Given the description of an element on the screen output the (x, y) to click on. 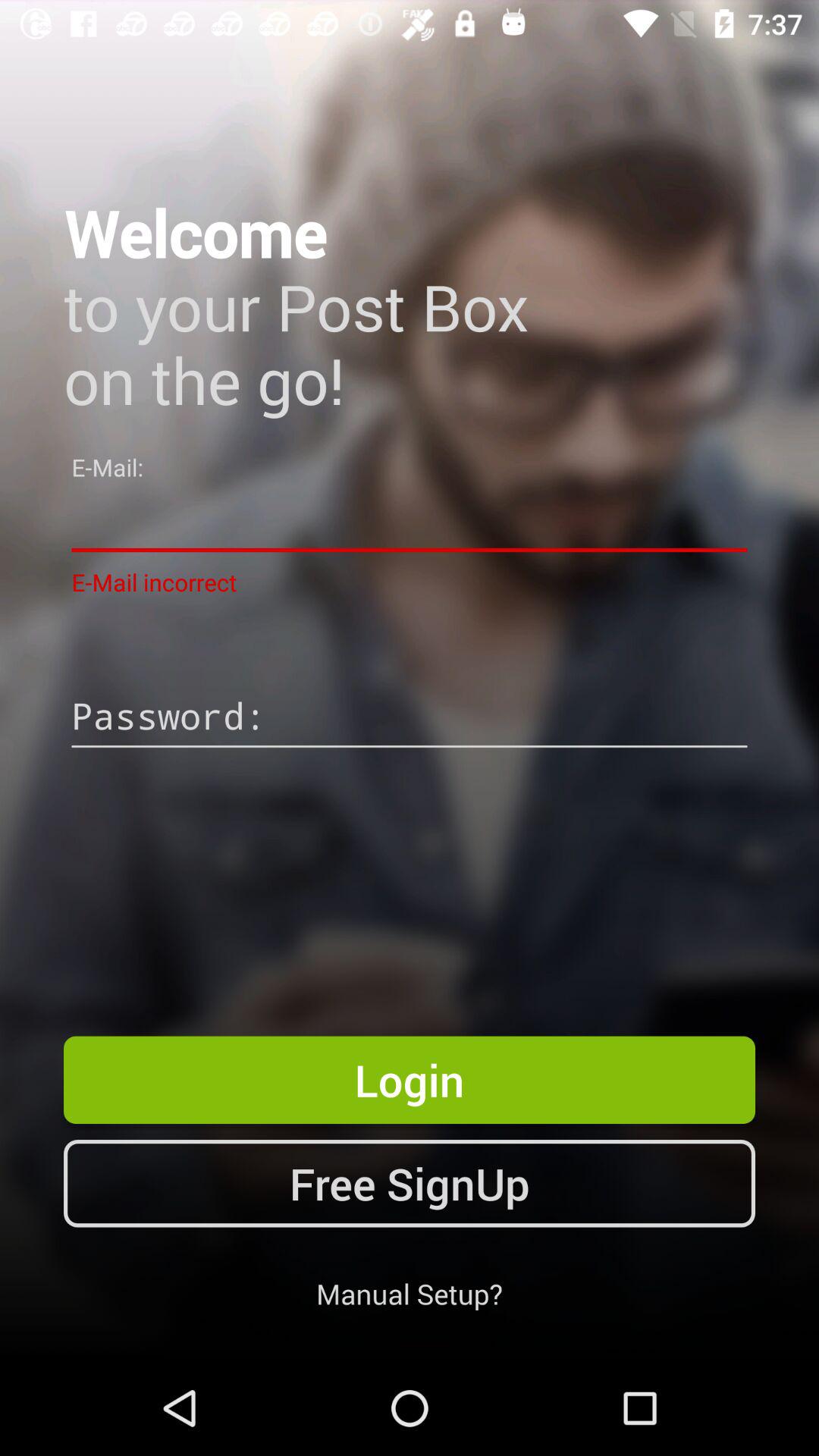
enter password (409, 718)
